Given the description of an element on the screen output the (x, y) to click on. 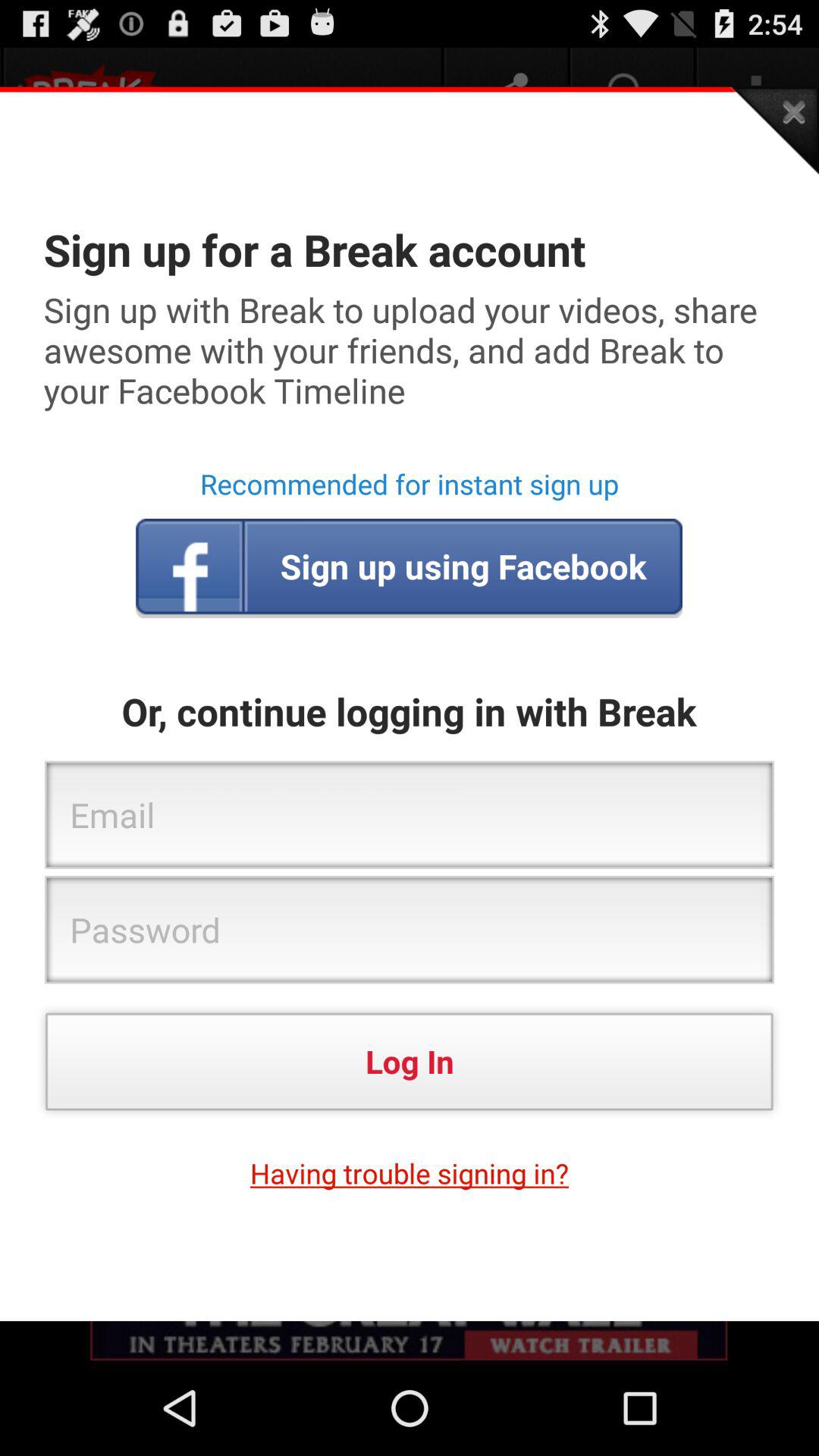
enter e-mail address (409, 815)
